Given the description of an element on the screen output the (x, y) to click on. 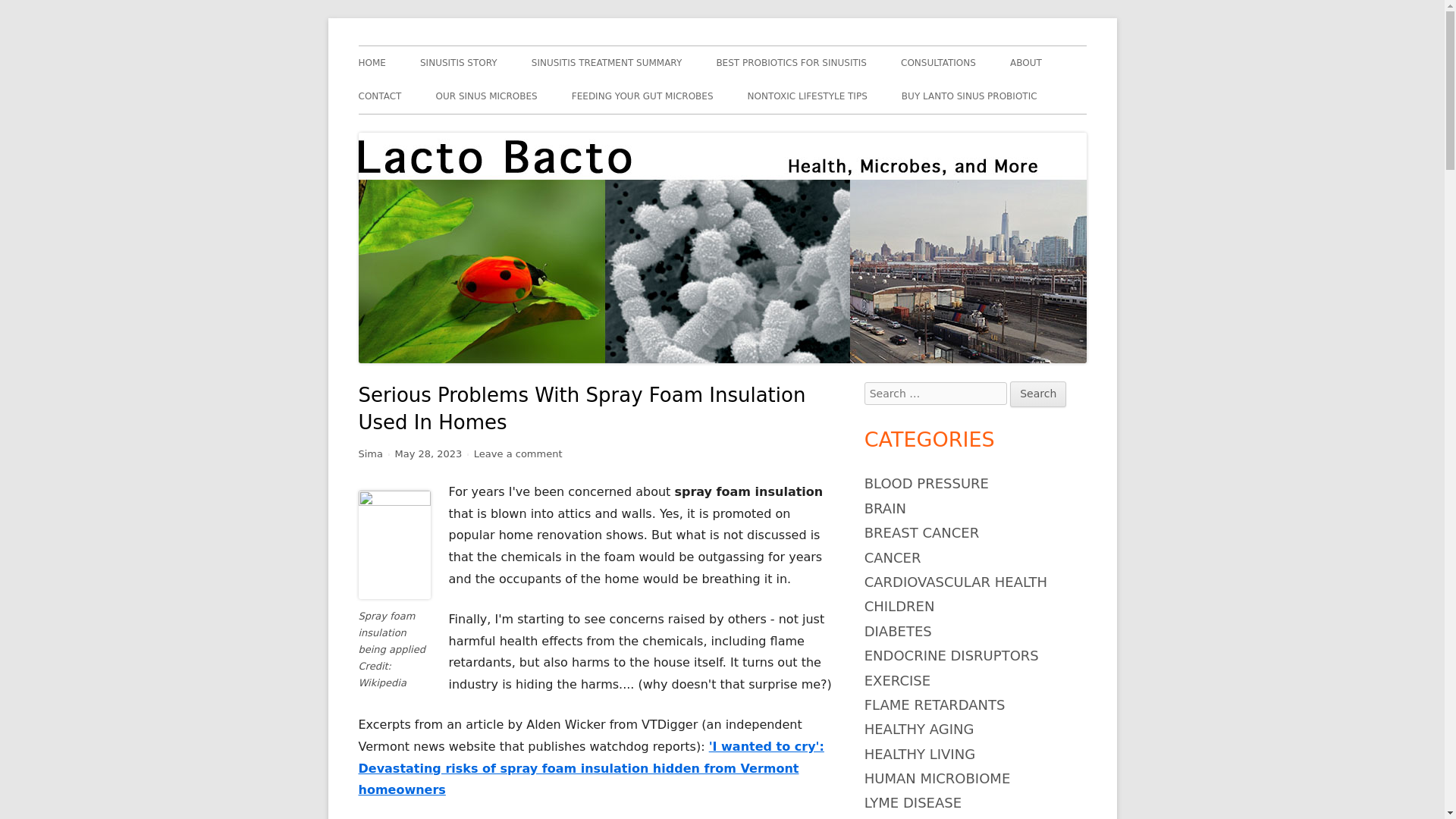
SINUSITIS STORY (458, 62)
ABOUT (1026, 62)
BEST PROBIOTICS FOR SINUSITIS (791, 62)
NONTOXIC LIFESTYLE TIPS (807, 96)
Search (1037, 394)
Sima (370, 453)
Search (1037, 394)
BUY LANTO SINUS PROBIOTIC (968, 96)
CONTACT (379, 96)
Lacto Bacto (416, 45)
SINUSITIS TREATMENT SUMMARY (606, 62)
Search (1037, 394)
FEEDING YOUR GUT MICROBES (642, 96)
